Given the description of an element on the screen output the (x, y) to click on. 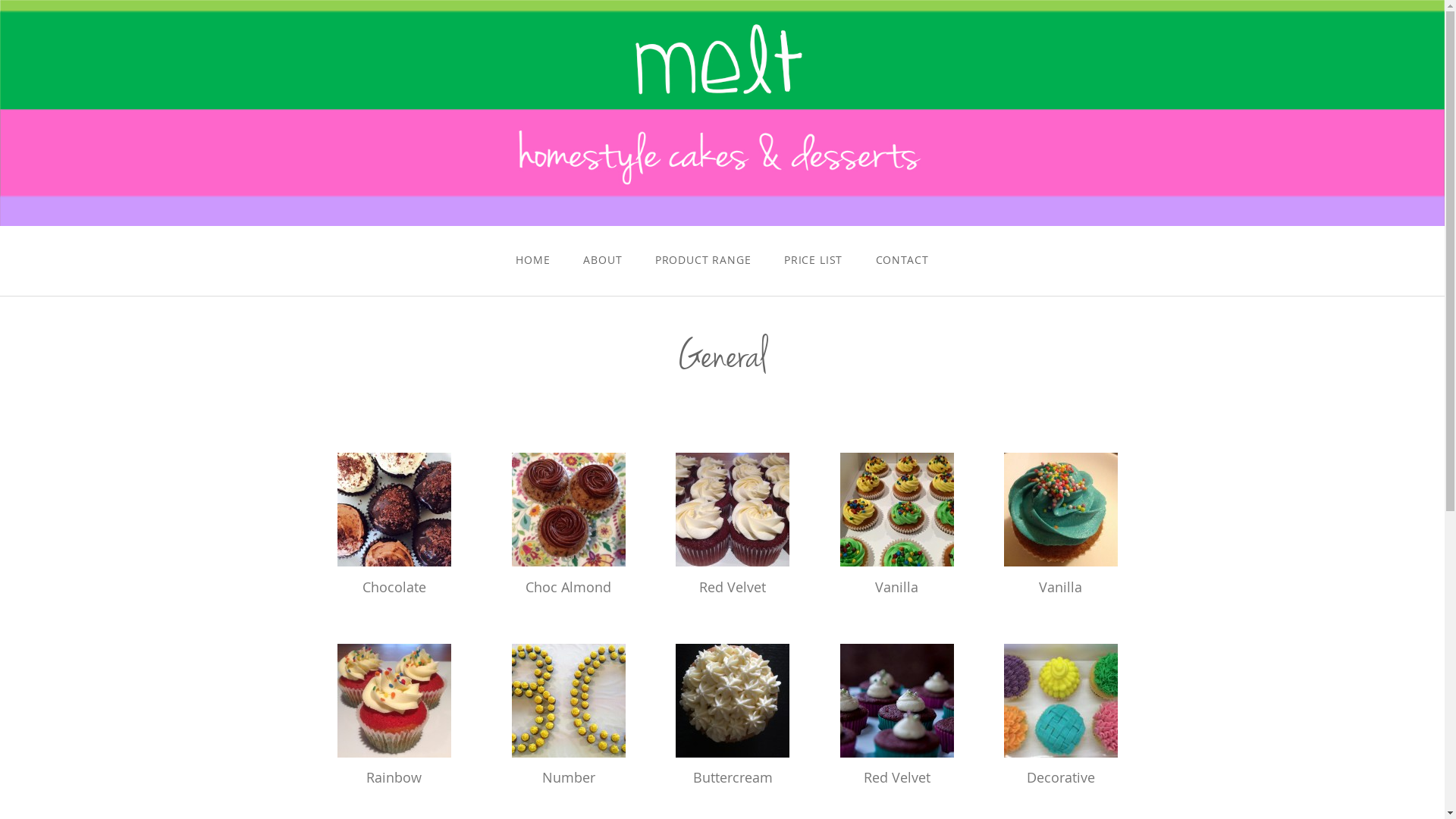
PRICE LIST Element type: text (813, 259)
CONTACT Element type: text (901, 259)
ABOUT Element type: text (603, 259)
HOME Element type: text (533, 259)
PRODUCT RANGE Element type: text (702, 259)
